Given the description of an element on the screen output the (x, y) to click on. 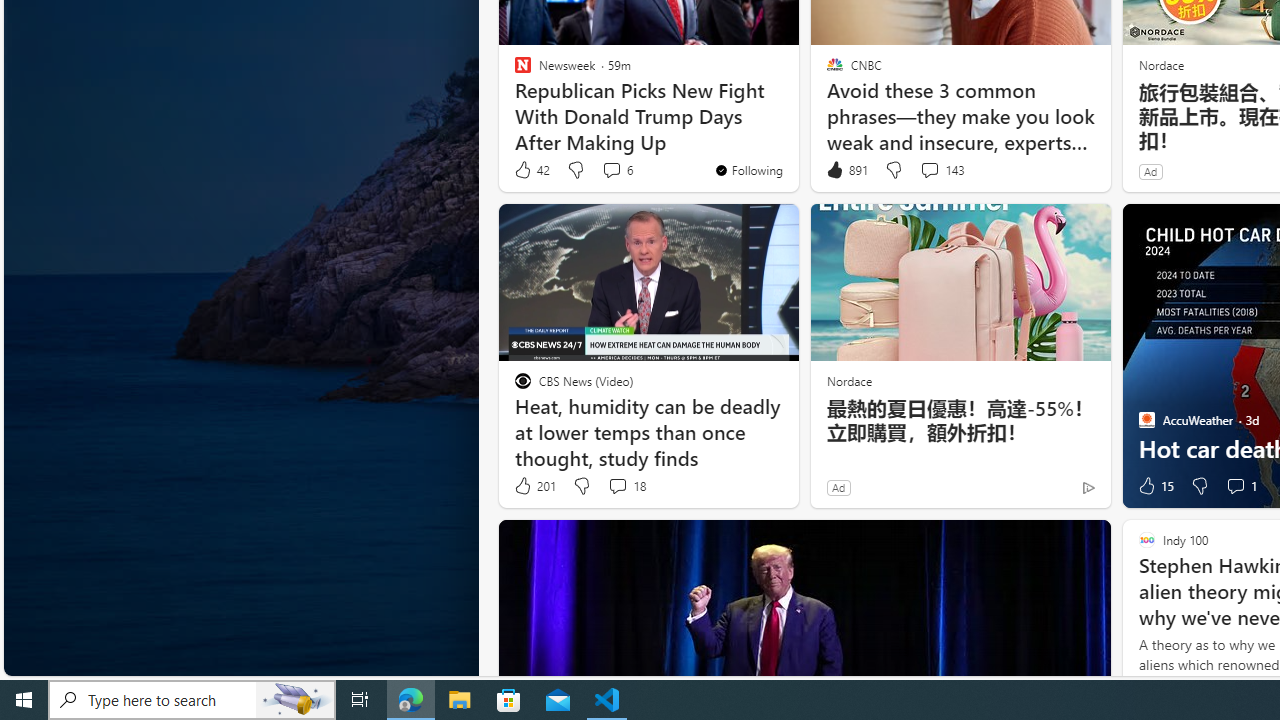
View comments 6 Comment (616, 170)
891 Like (845, 170)
View comments 6 Comment (611, 169)
View comments 18 Comment (626, 485)
42 Like (531, 170)
View comments 18 Comment (617, 485)
View comments 143 Comment (929, 169)
201 Like (534, 485)
View comments 143 Comment (941, 170)
